Given the description of an element on the screen output the (x, y) to click on. 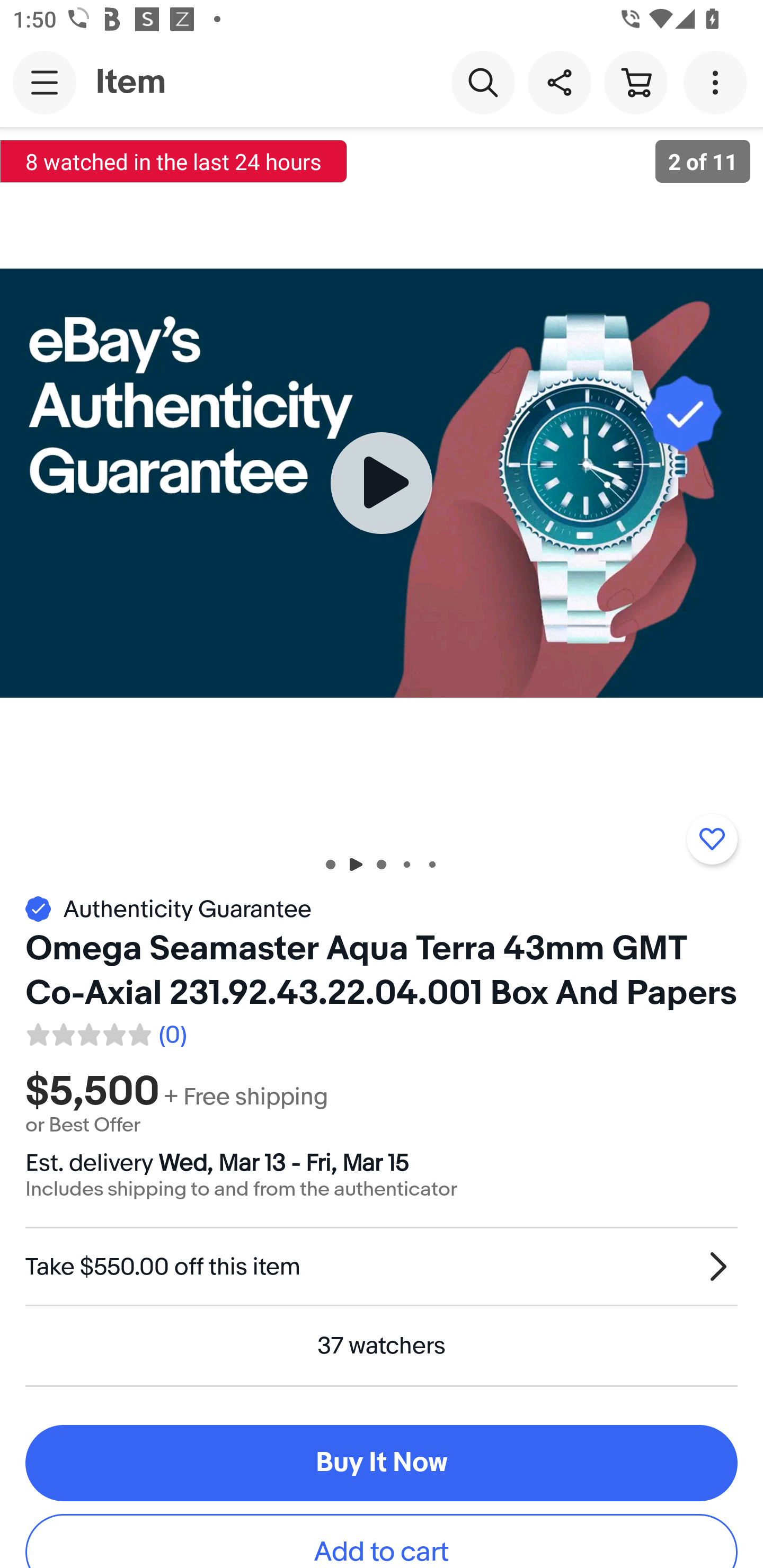
Main navigation, open (44, 82)
Search (482, 81)
Share this item (559, 81)
Cart button shopping cart (635, 81)
More options (718, 81)
Item image 2 of 11, plays video (381, 482)
8 watched in the last 24 hours (173, 161)
Add to watchlist (711, 838)
0 reviews. Average rating 0.0 out of five 0.0 (0) (105, 1031)
Buy It Now (381, 1462)
Add to cart (381, 1541)
